Given the description of an element on the screen output the (x, y) to click on. 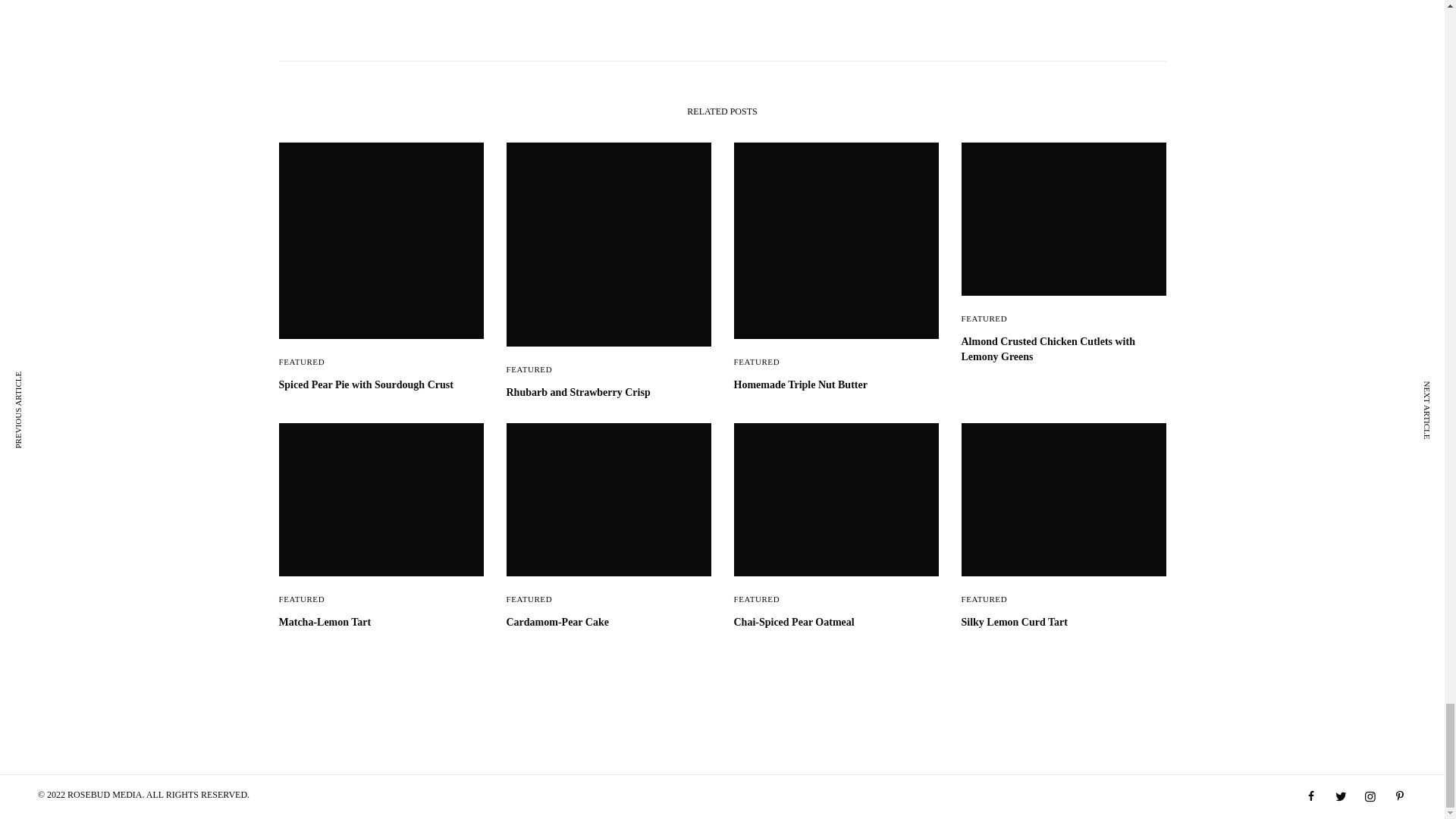
Chai-Spiced Pear Oatmeal (836, 622)
Rhubarb and Strawberry Crisp (608, 392)
Homemade Triple Nut Butter (836, 385)
Silky Lemon Curd Tart (1063, 622)
Spiced Pear Pie with Sourdough Crust (381, 385)
Matcha-Lemon Tart (381, 622)
Almond Crusted Chicken Cutlets with Lemony Greens (1063, 348)
Cardamom-Pear Cake (608, 622)
